Given the description of an element on the screen output the (x, y) to click on. 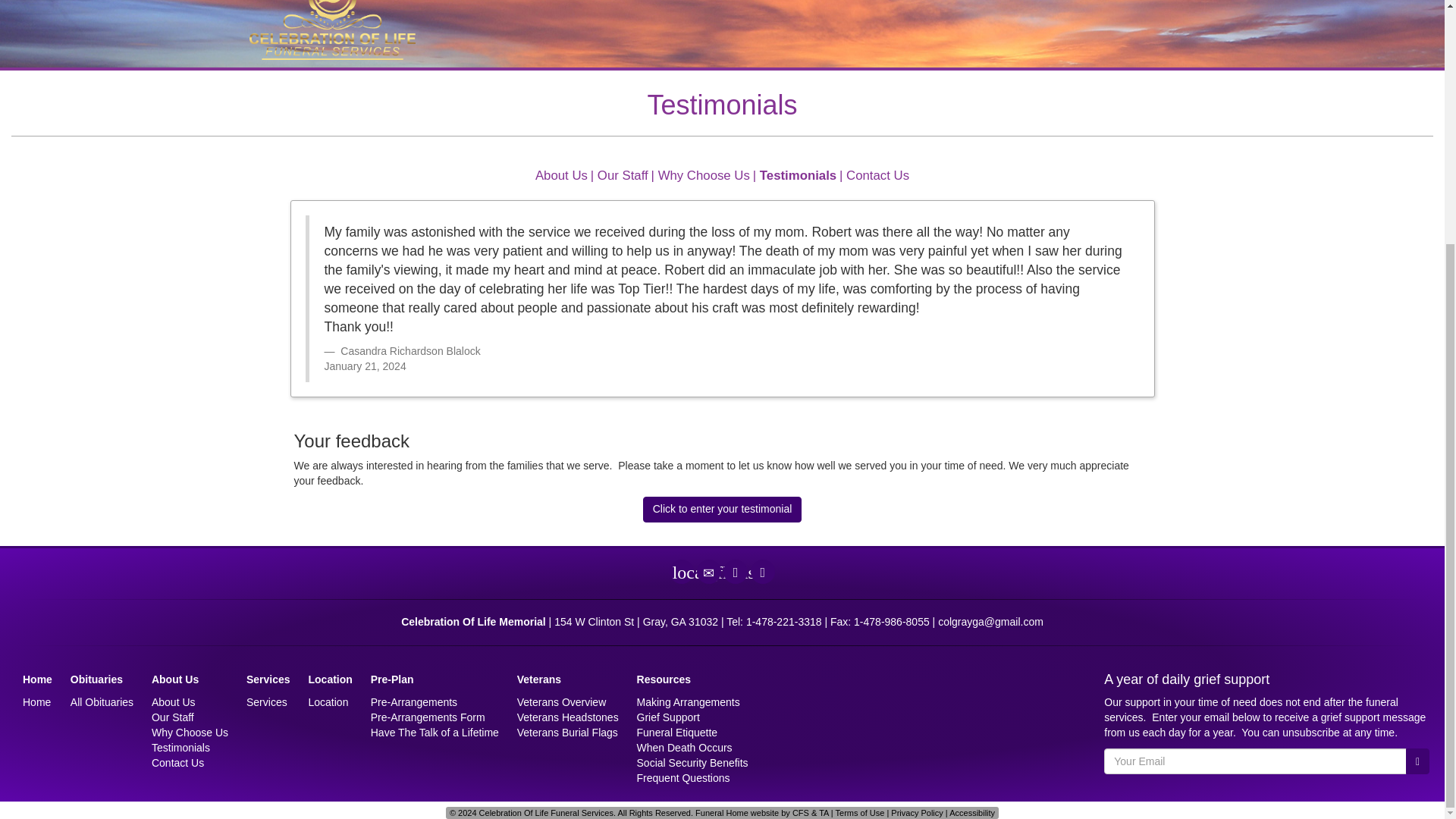
LOCATION (862, 0)
Why Choose Us (703, 175)
VETERANS... (1010, 0)
Testimonials (797, 175)
Contact Us (876, 175)
Click to enter your testimonial (722, 509)
Our Staff (621, 175)
RESOURCES... (1091, 0)
SERVICES (798, 0)
Directions (735, 571)
HOME (592, 0)
About Us (561, 175)
ABOUT US... (729, 0)
OBITUARIES (653, 0)
1-478-221-3318 (783, 621)
